Given the description of an element on the screen output the (x, y) to click on. 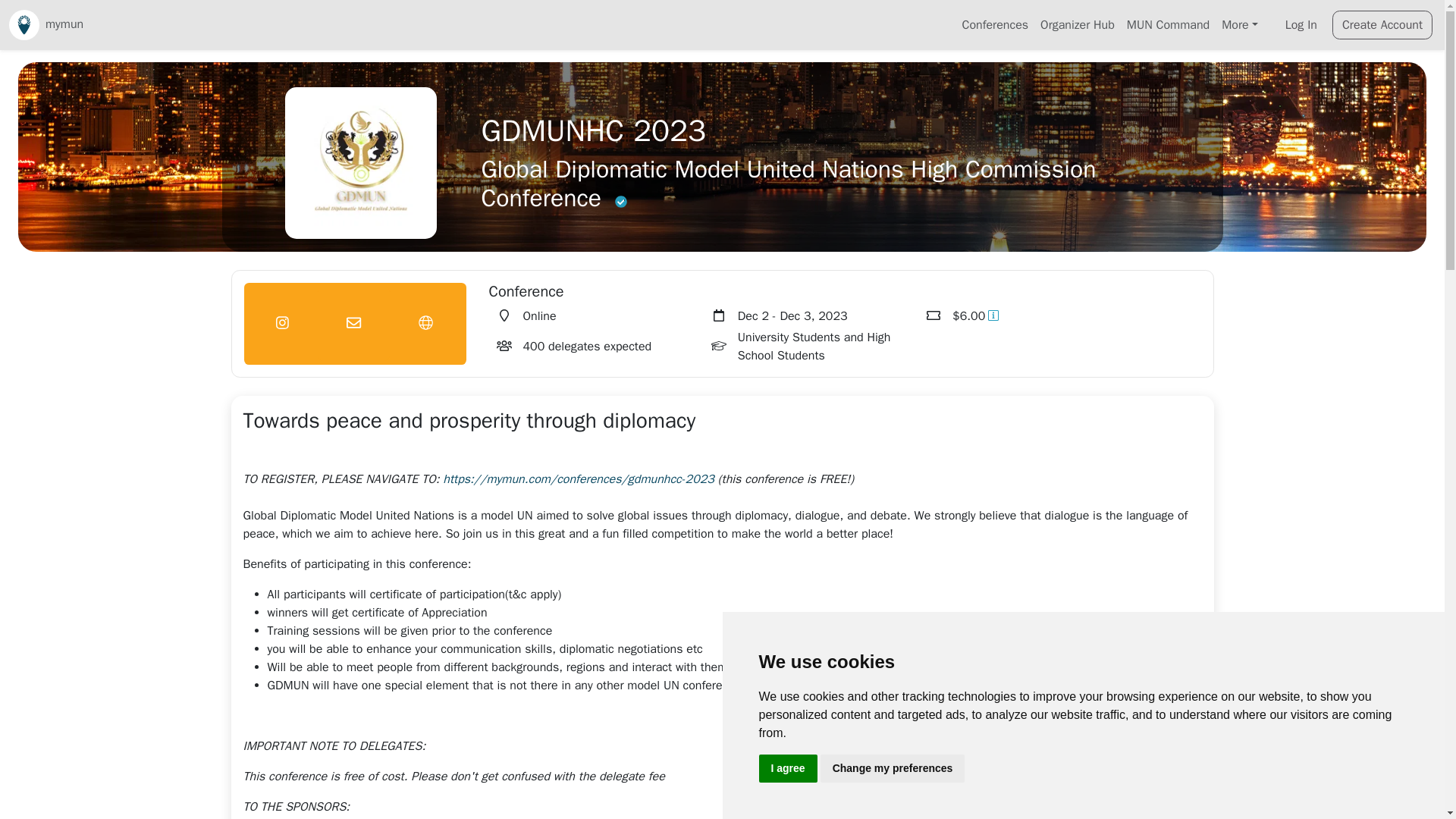
Log In (1301, 24)
Organizer Hub (1077, 24)
mymun (45, 24)
Create Account (1382, 24)
Change my preferences (893, 768)
MUN Command (1168, 24)
Conferences (995, 24)
I agree (787, 768)
